Given the description of an element on the screen output the (x, y) to click on. 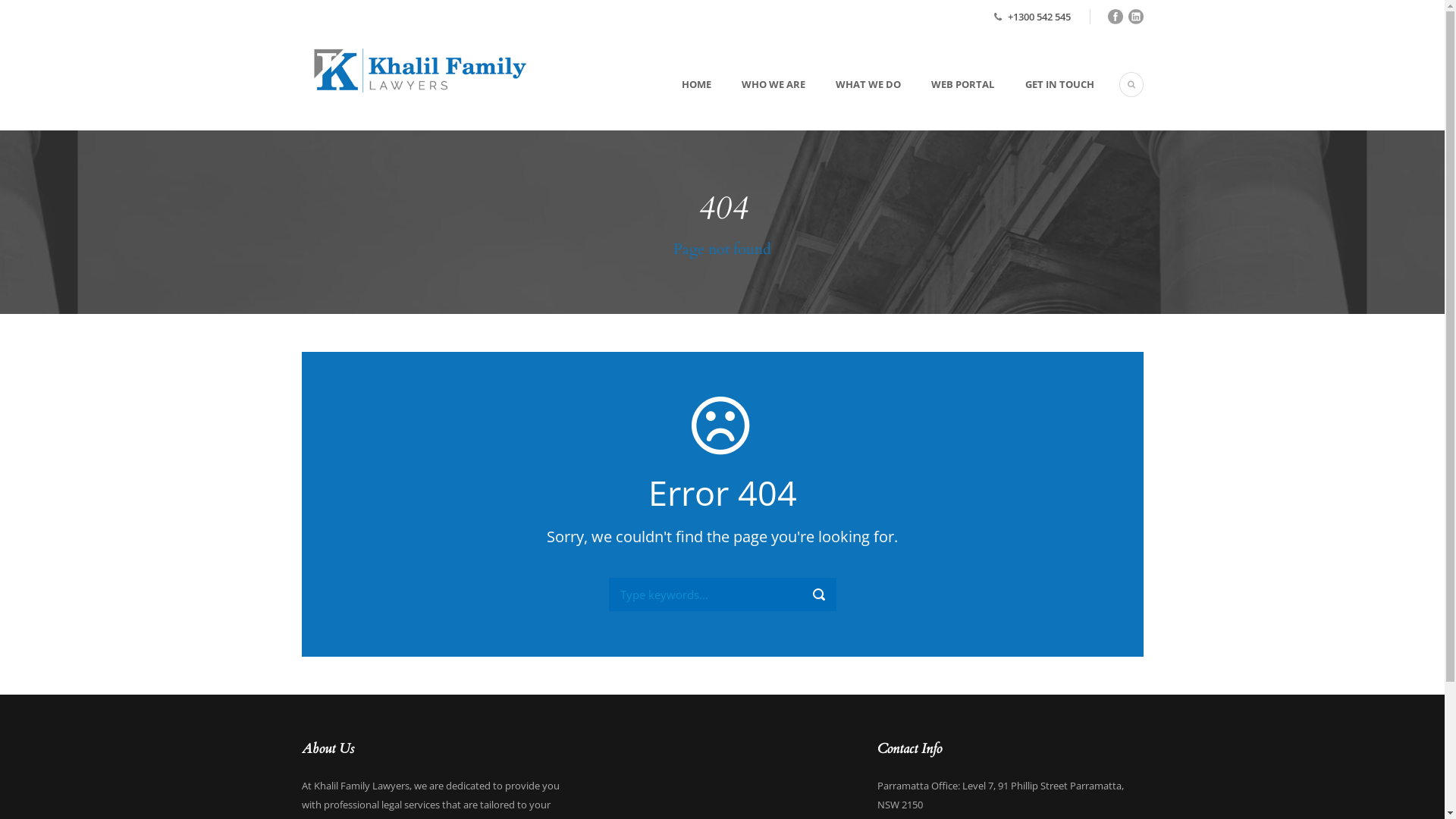
WHAT WE DO Element type: text (852, 102)
WEB PORTAL Element type: text (947, 102)
HOME Element type: text (690, 102)
GET IN TOUCH Element type: text (1043, 102)
WHO WE ARE Element type: text (758, 102)
+1300 542 545 Element type: text (1038, 16)
